Given the description of an element on the screen output the (x, y) to click on. 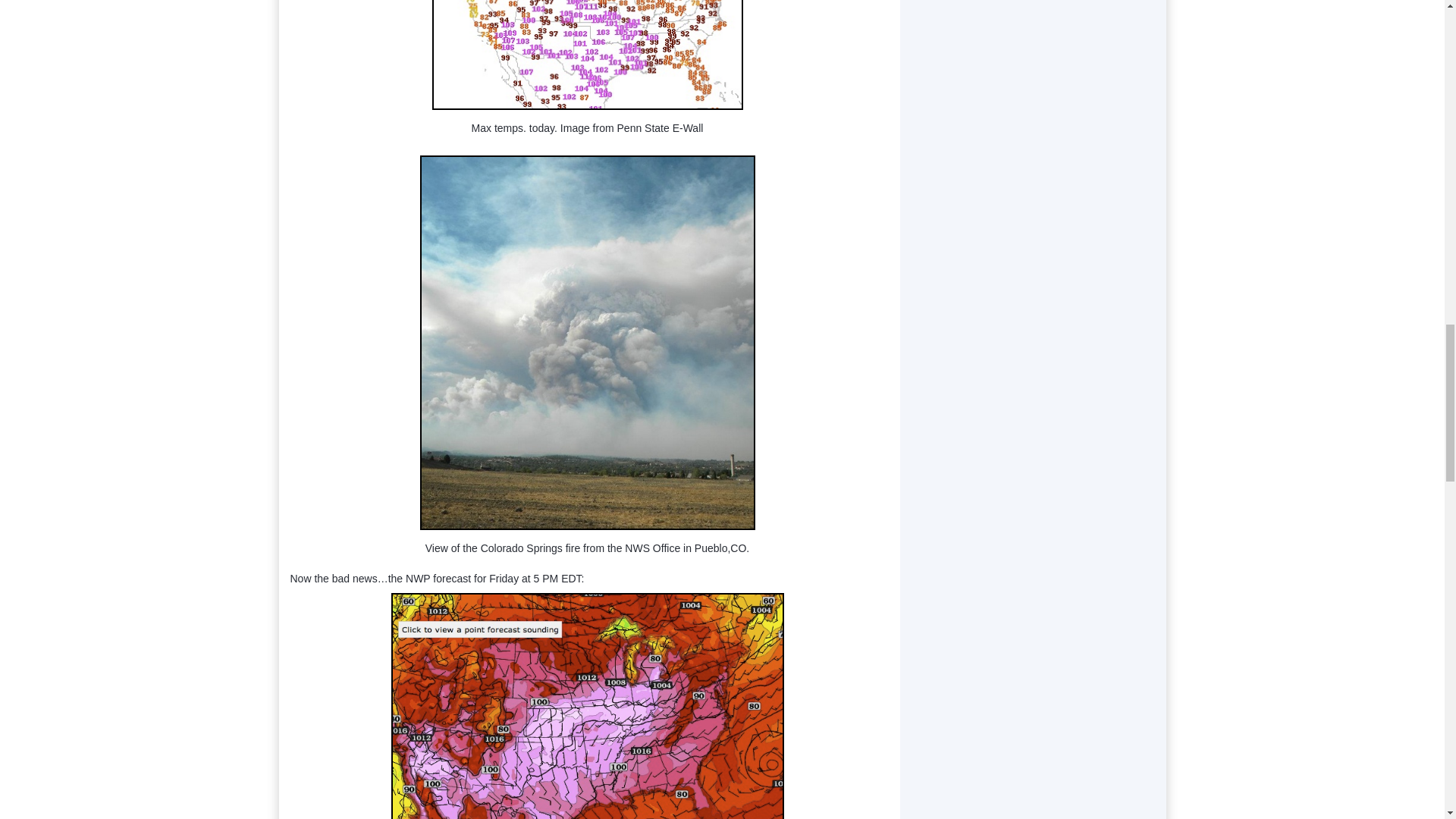
Screen Shot 2012-06-27 at 01.55.02 (587, 342)
Screen Shot 2012-06-27 at 02.01.40 (587, 705)
Screen Shot 2012-06-27 at 01.51.26 (587, 54)
